Given the description of an element on the screen output the (x, y) to click on. 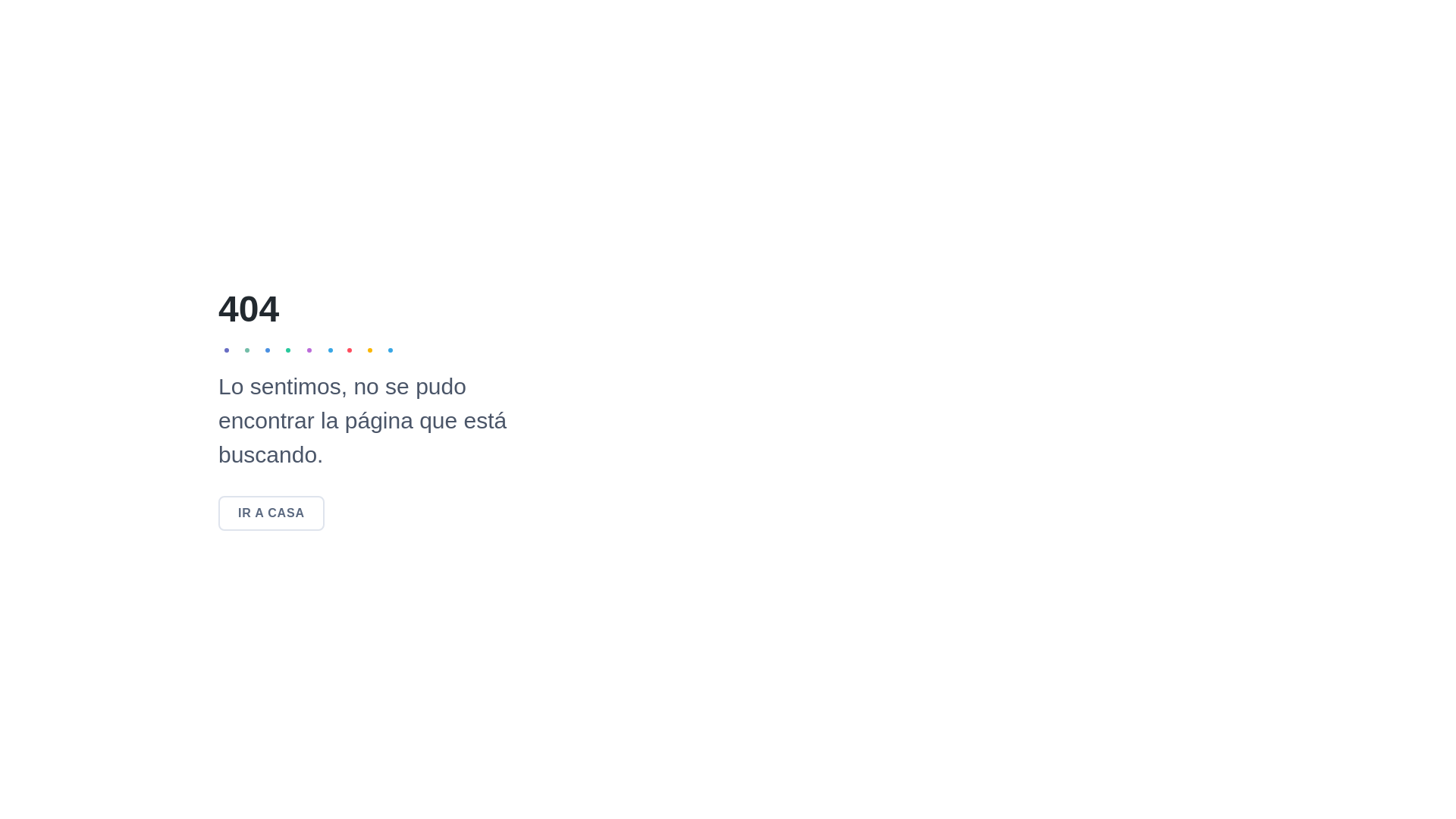
IR A CASA Element type: text (271, 512)
IR A CASA Element type: text (271, 512)
